Given the description of an element on the screen output the (x, y) to click on. 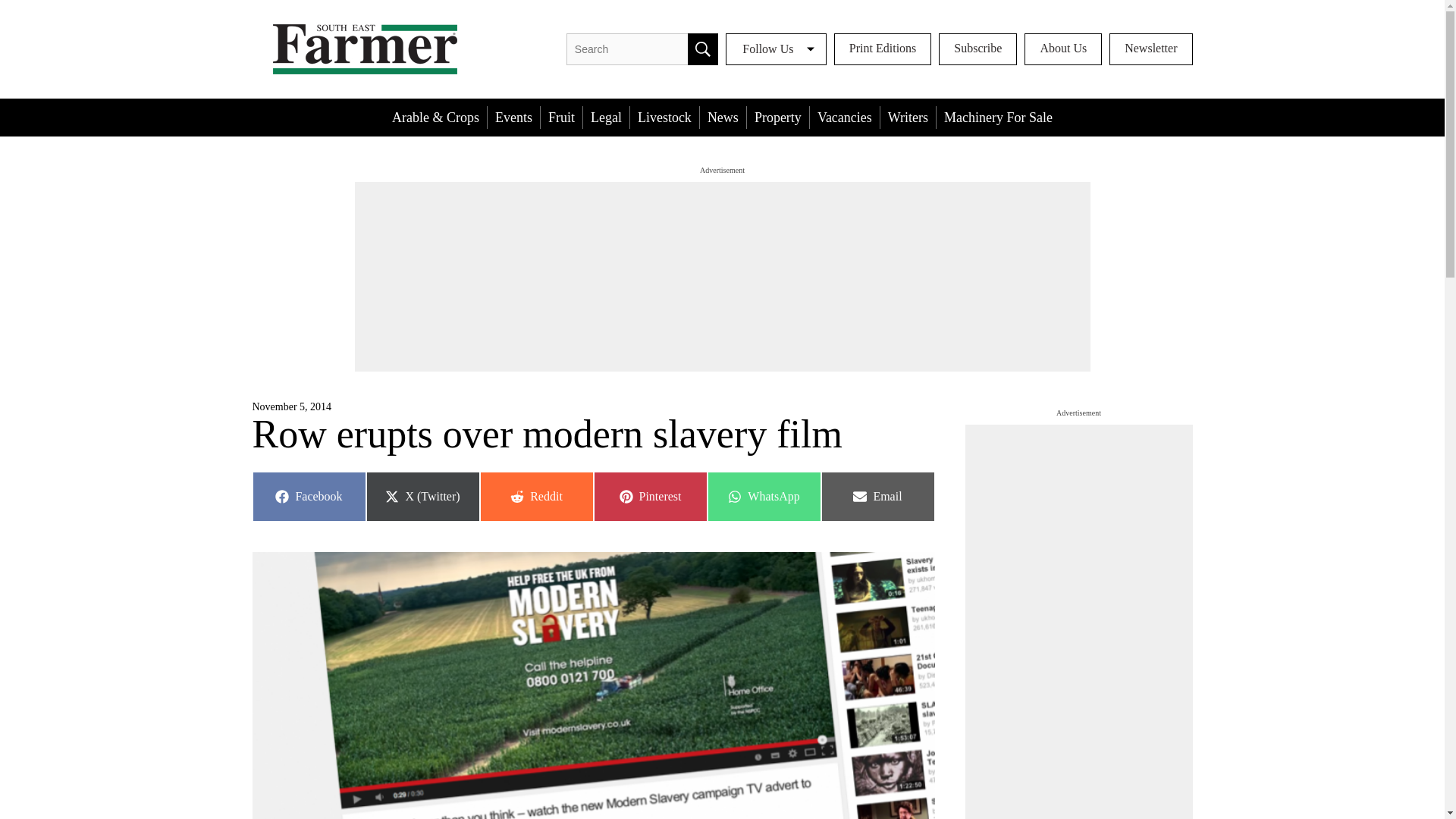
Print Editions (882, 49)
Search (702, 49)
Legal (605, 117)
Property (777, 117)
Vacancies (763, 496)
Subscribe (844, 117)
Machinery For Sale (977, 49)
Newsletter (535, 496)
About Us (997, 117)
Writers (1150, 49)
Follow Us (1063, 49)
Events (908, 117)
